Given the description of an element on the screen output the (x, y) to click on. 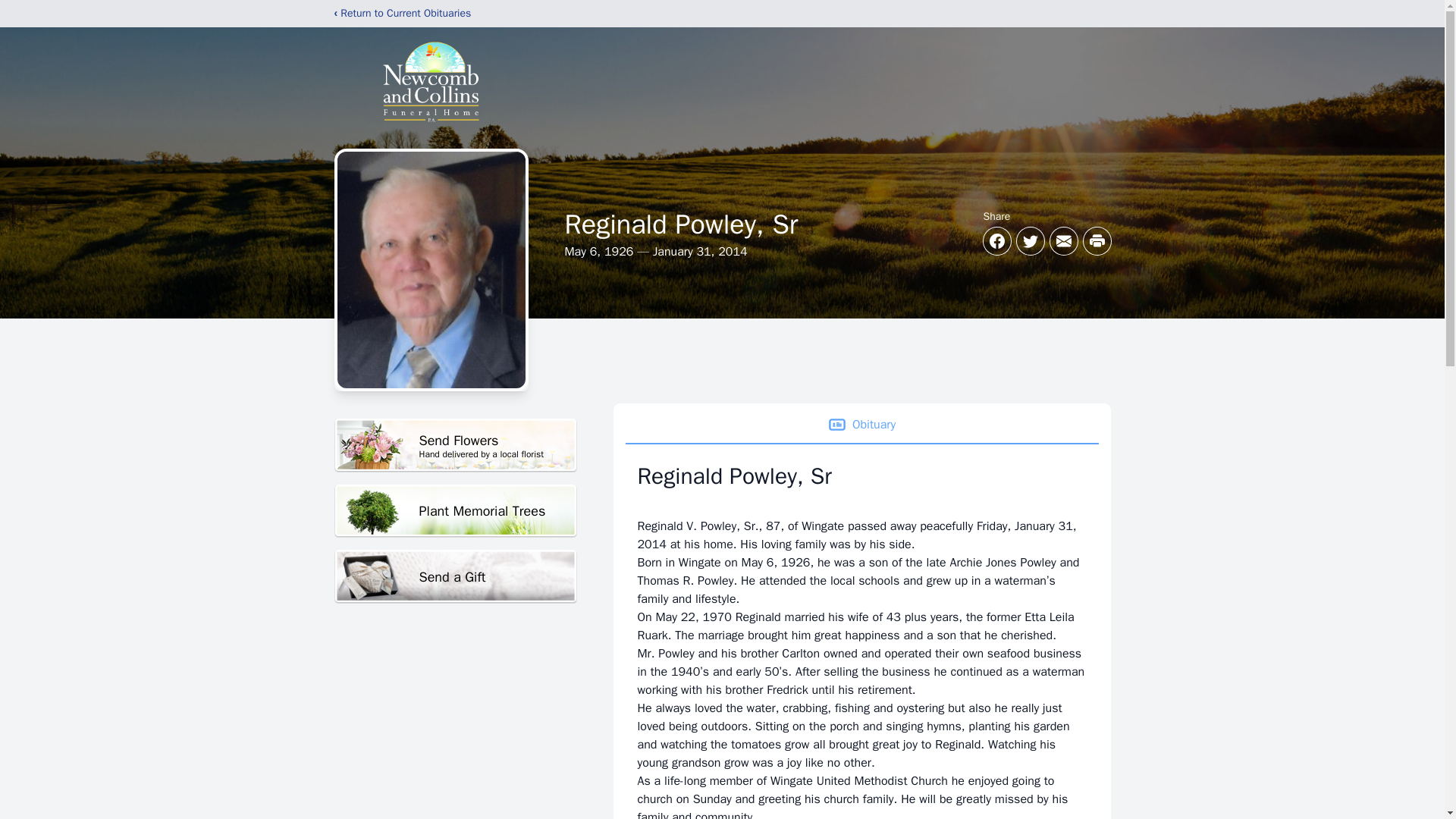
Send a Gift (454, 445)
Plant Memorial Trees (454, 576)
Obituary (454, 511)
